Given the description of an element on the screen output the (x, y) to click on. 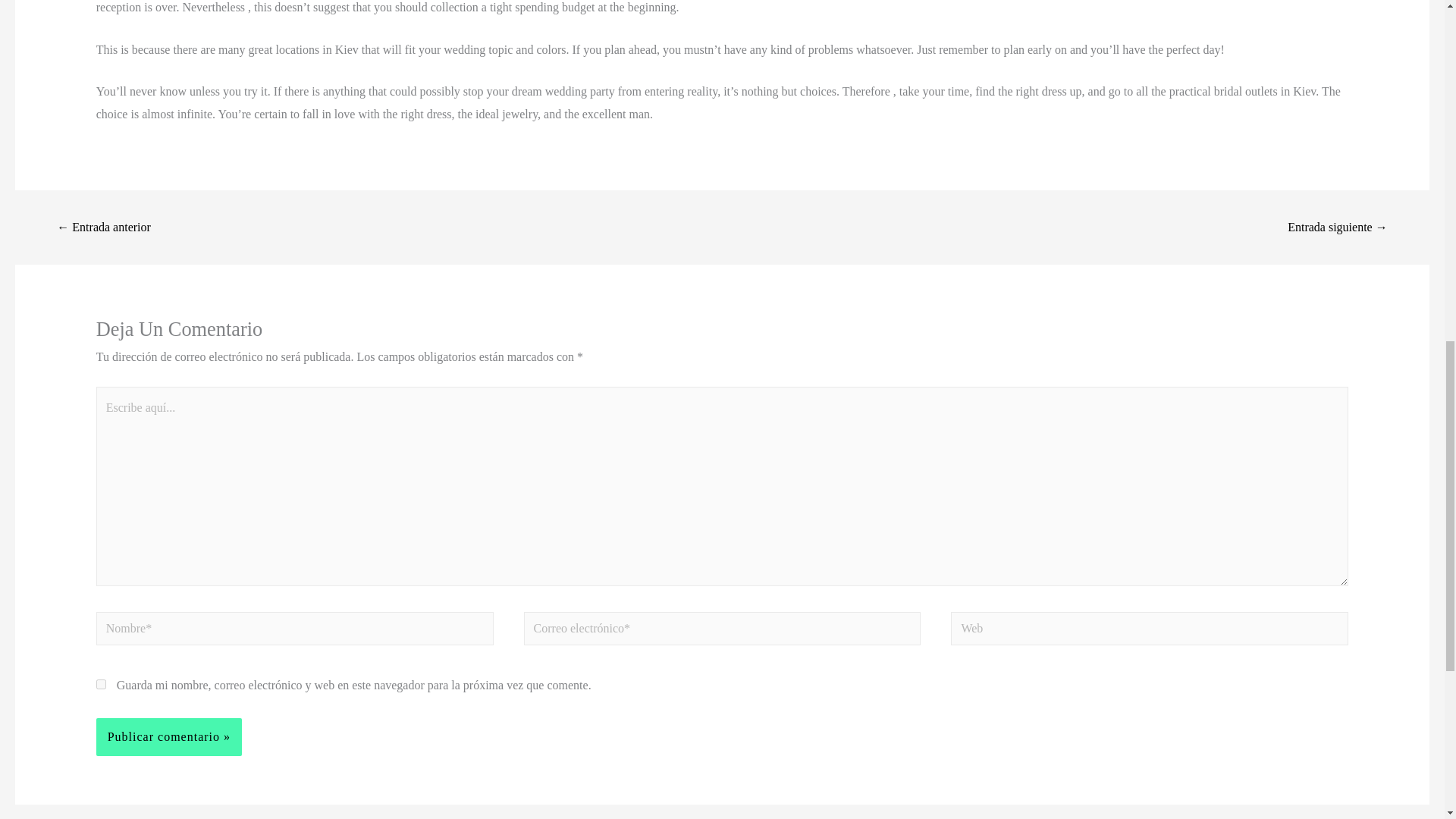
yes (101, 684)
